Given the description of an element on the screen output the (x, y) to click on. 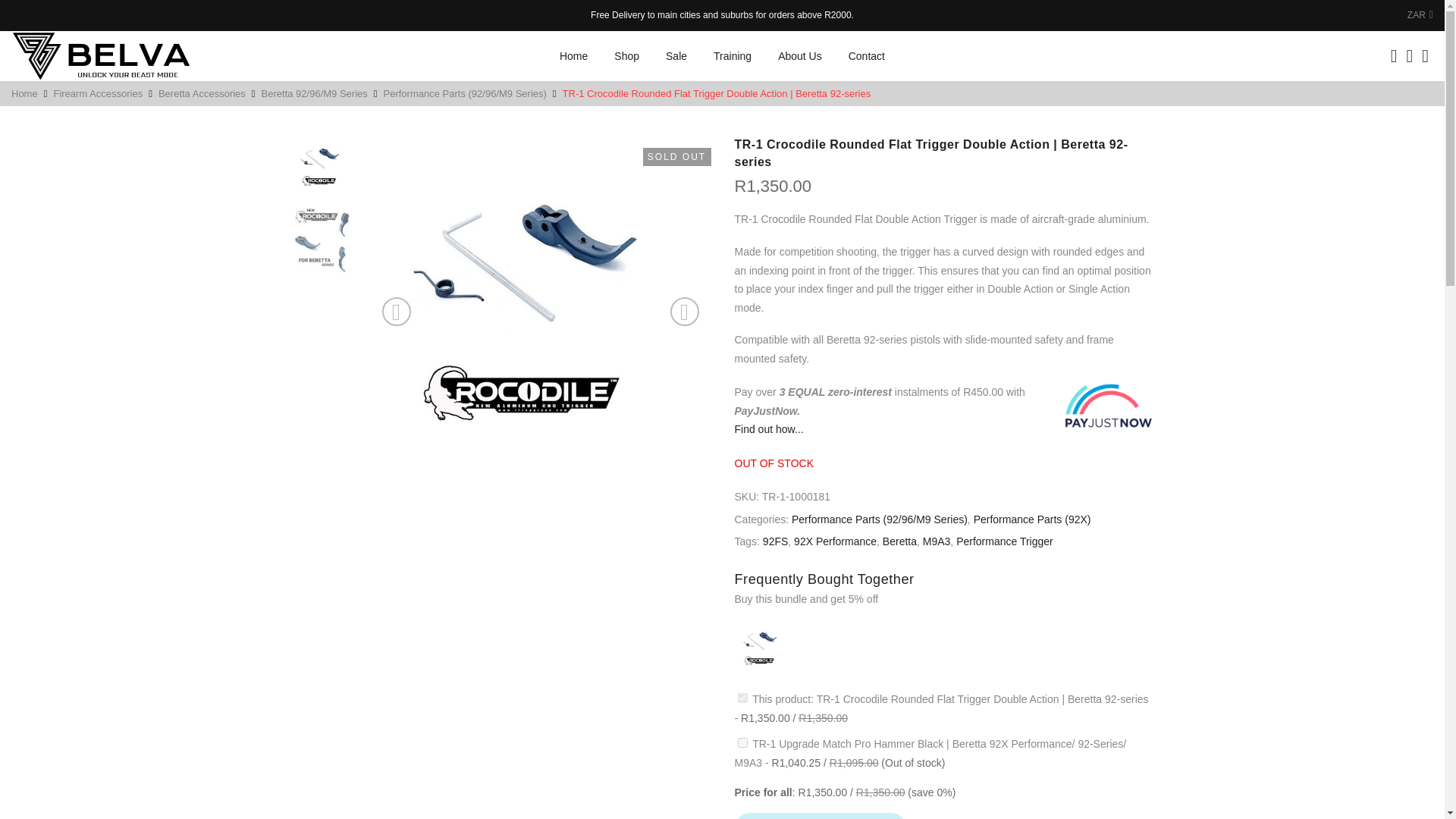
Home (573, 55)
on (741, 697)
Shop (626, 55)
on (741, 742)
